Given the description of an element on the screen output the (x, y) to click on. 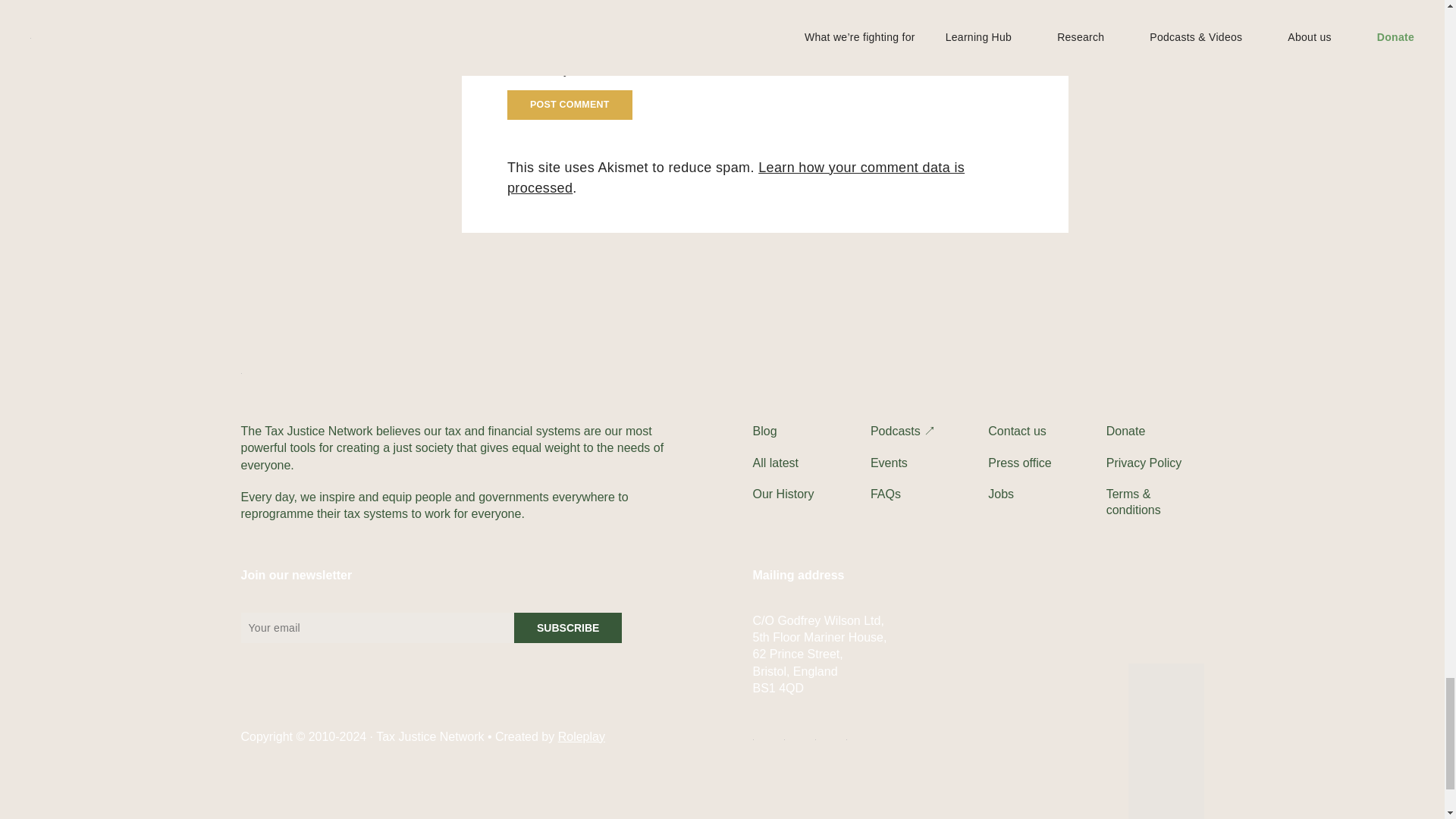
Post Comment (568, 104)
yes (511, 70)
